Given the description of an element on the screen output the (x, y) to click on. 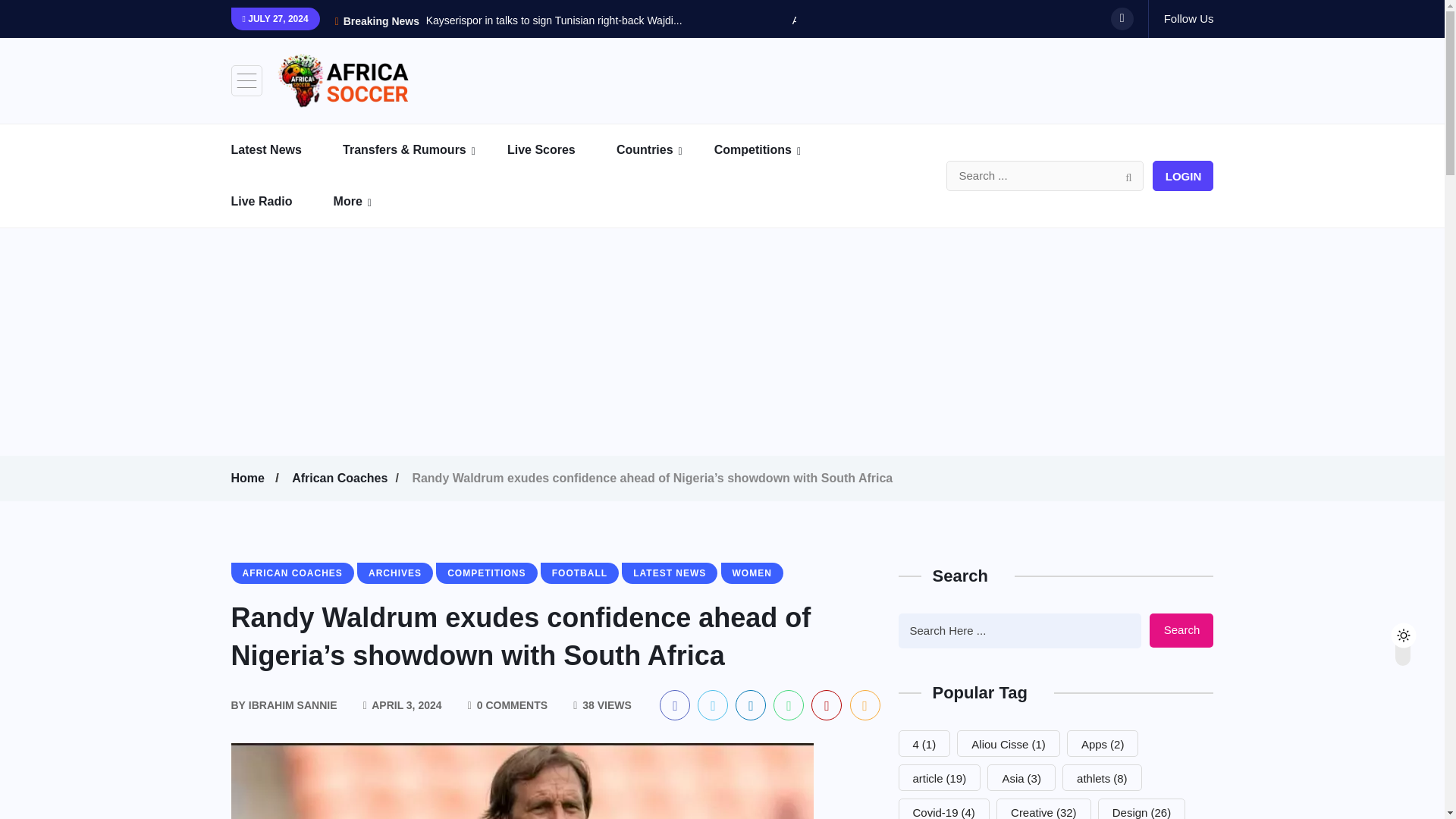
Kayserispor in talks to sign Tunisian right-back Wajdi... (554, 20)
East Africa (710, 191)
on (1415, 631)
Countries (663, 150)
Live Scores (559, 150)
Latest News (284, 150)
Alasana Manneh shines as Odense BK dominates HB... (923, 20)
